Given the description of an element on the screen output the (x, y) to click on. 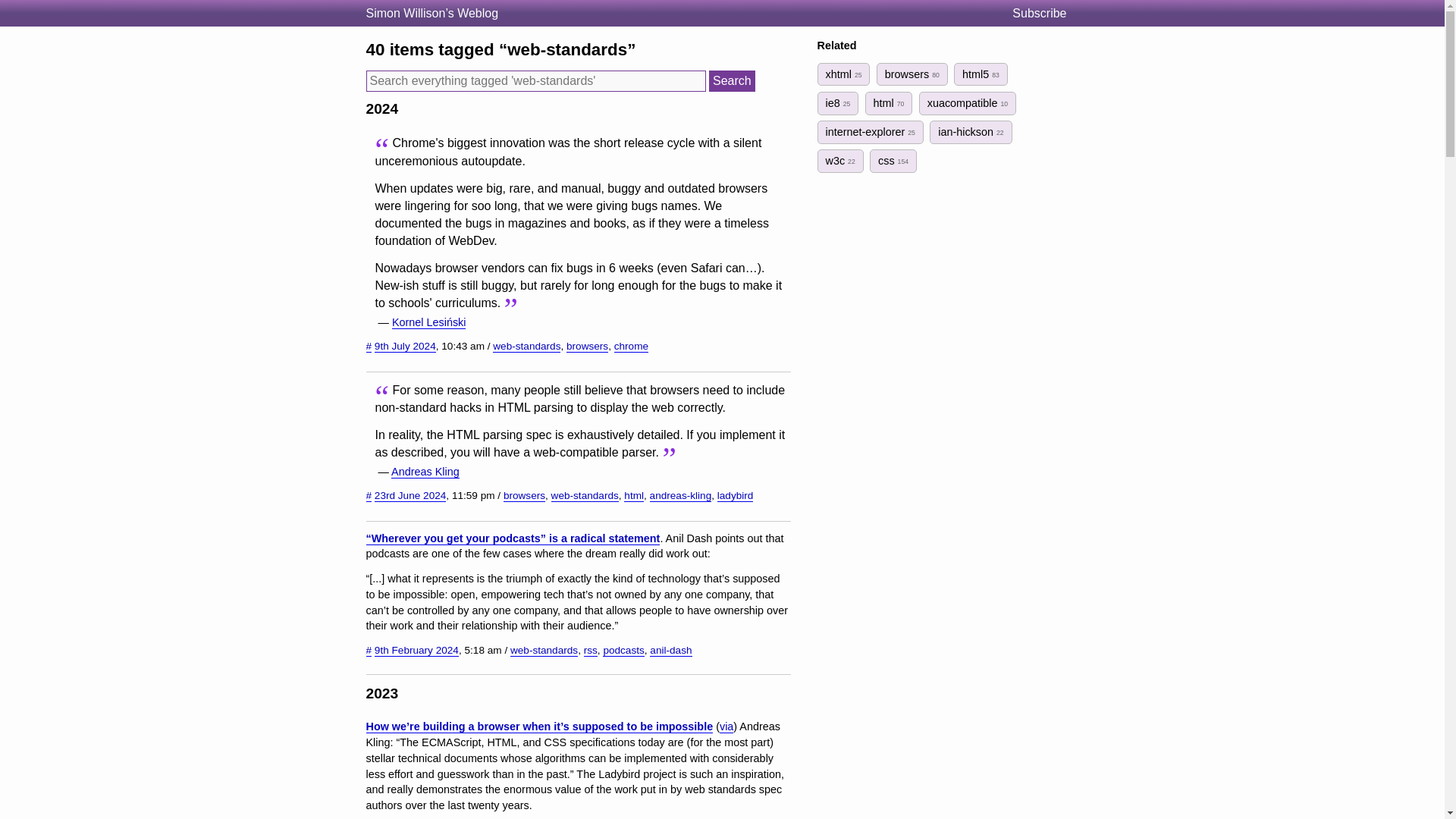
Hacker News (726, 726)
podcasts (622, 650)
web-standards (584, 495)
chrome (630, 346)
html (633, 495)
ladybird (735, 495)
9th July 2024 (404, 346)
Search (732, 80)
andreas-kling (680, 495)
23rd June 2024 (409, 495)
